Given the description of an element on the screen output the (x, y) to click on. 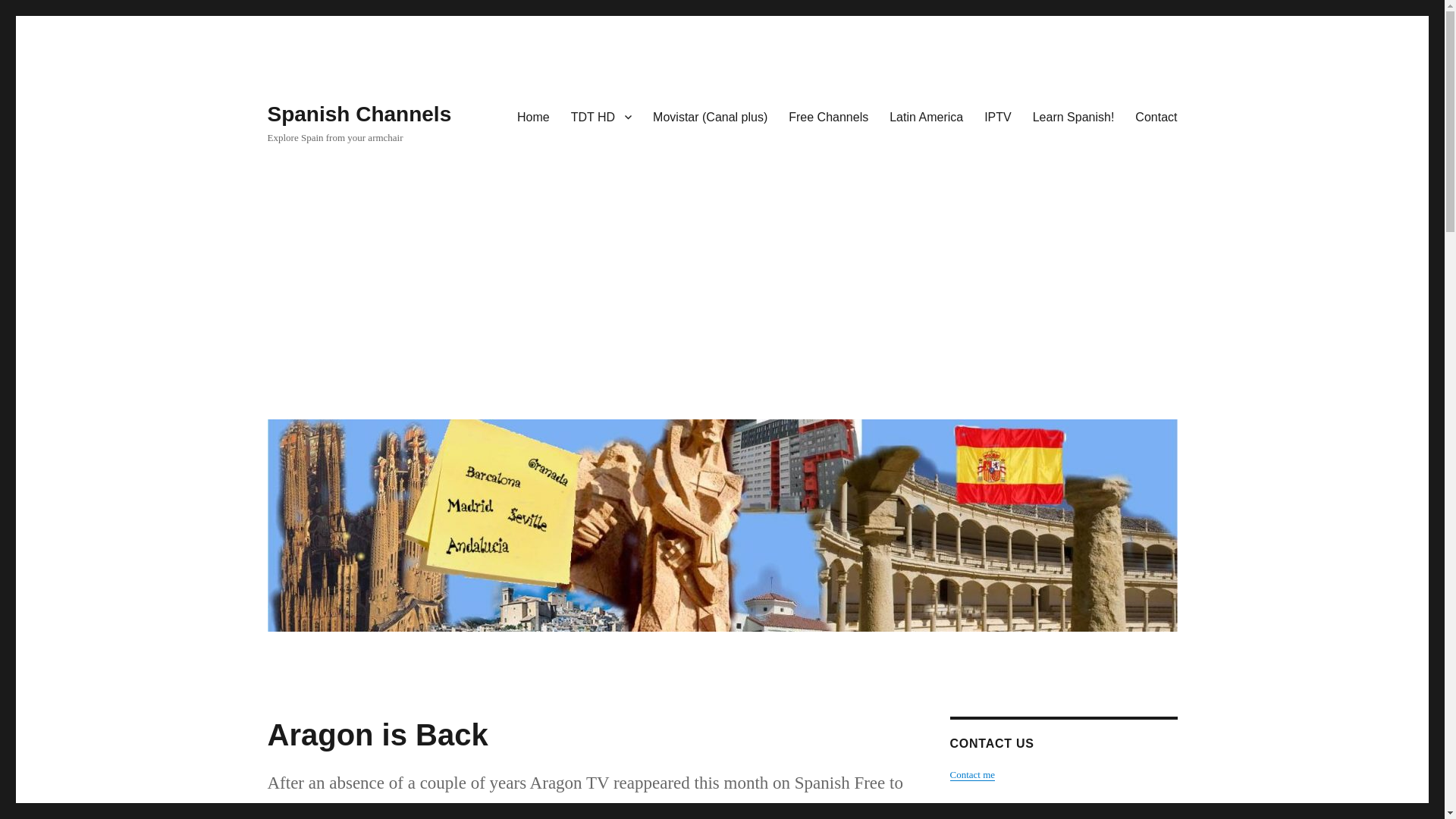
Contact (1156, 116)
Free Channels (828, 116)
TDT HD (601, 116)
Contact me (971, 774)
Home (533, 116)
IPTV (998, 116)
Latin America (926, 116)
Spanish Channels (358, 114)
Learn Spanish! (1073, 116)
